Given the description of an element on the screen output the (x, y) to click on. 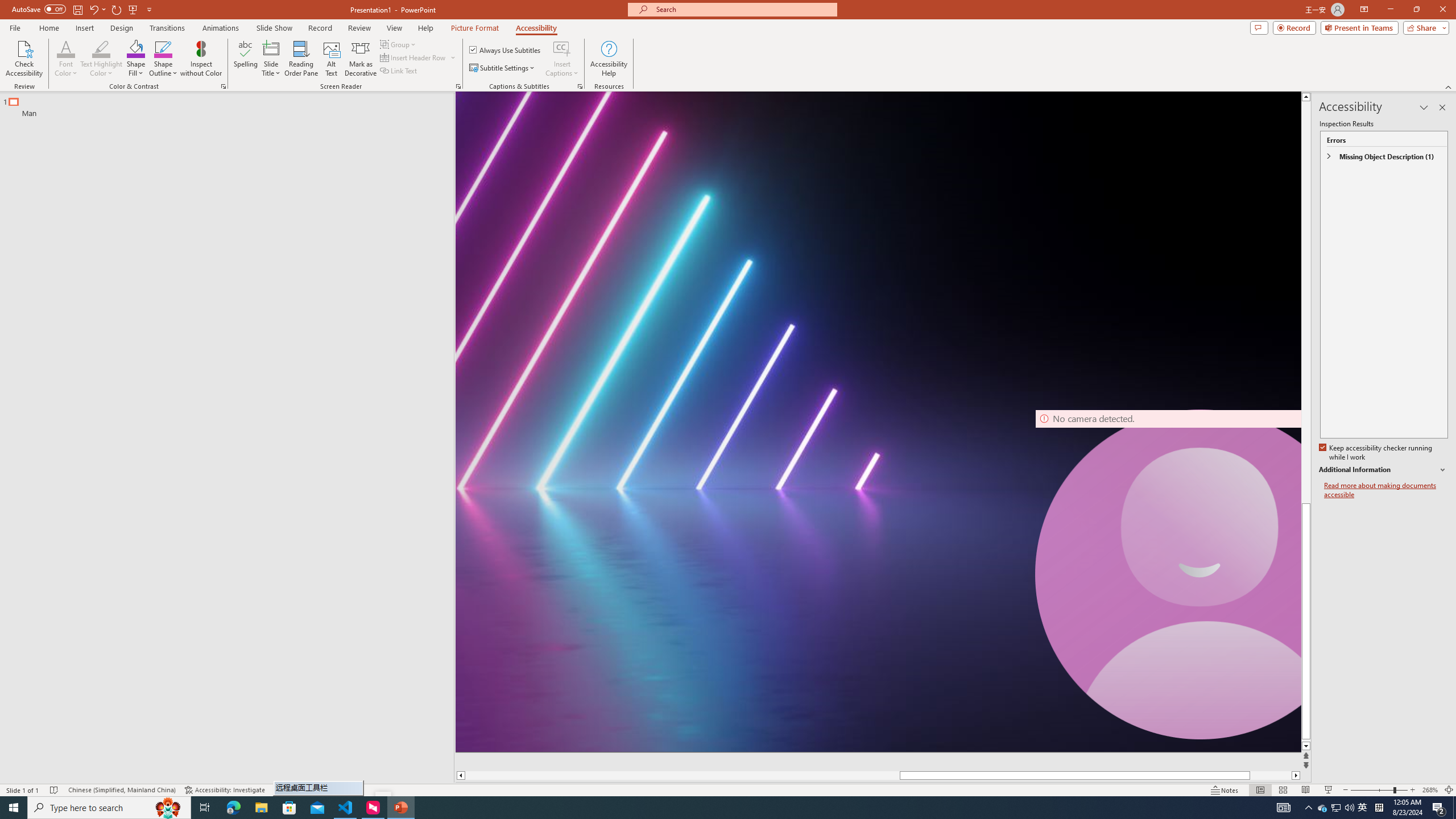
Group (398, 44)
Zoom 268% (1430, 790)
Accessibility Checker Accessibility: Investigate (224, 790)
Slide Title (271, 58)
Picture Format (475, 28)
Insert Header Row (413, 56)
Keep accessibility checker running while I work (1376, 452)
Mark as Decorative (360, 58)
